Given the description of an element on the screen output the (x, y) to click on. 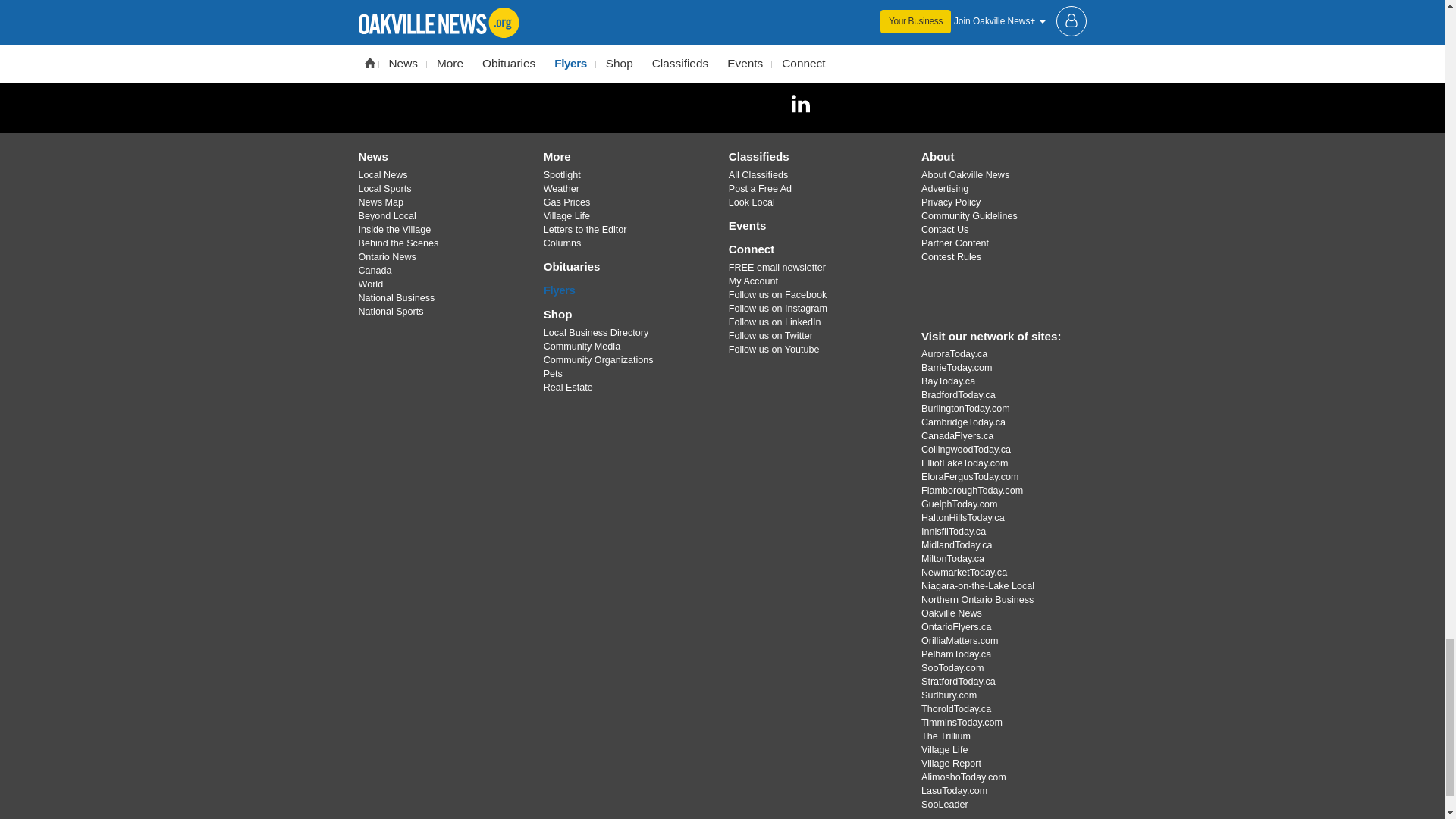
LinkedIn (800, 103)
Facebook (644, 103)
X (683, 103)
YouTube (760, 103)
Instagram (721, 103)
